Given the description of an element on the screen output the (x, y) to click on. 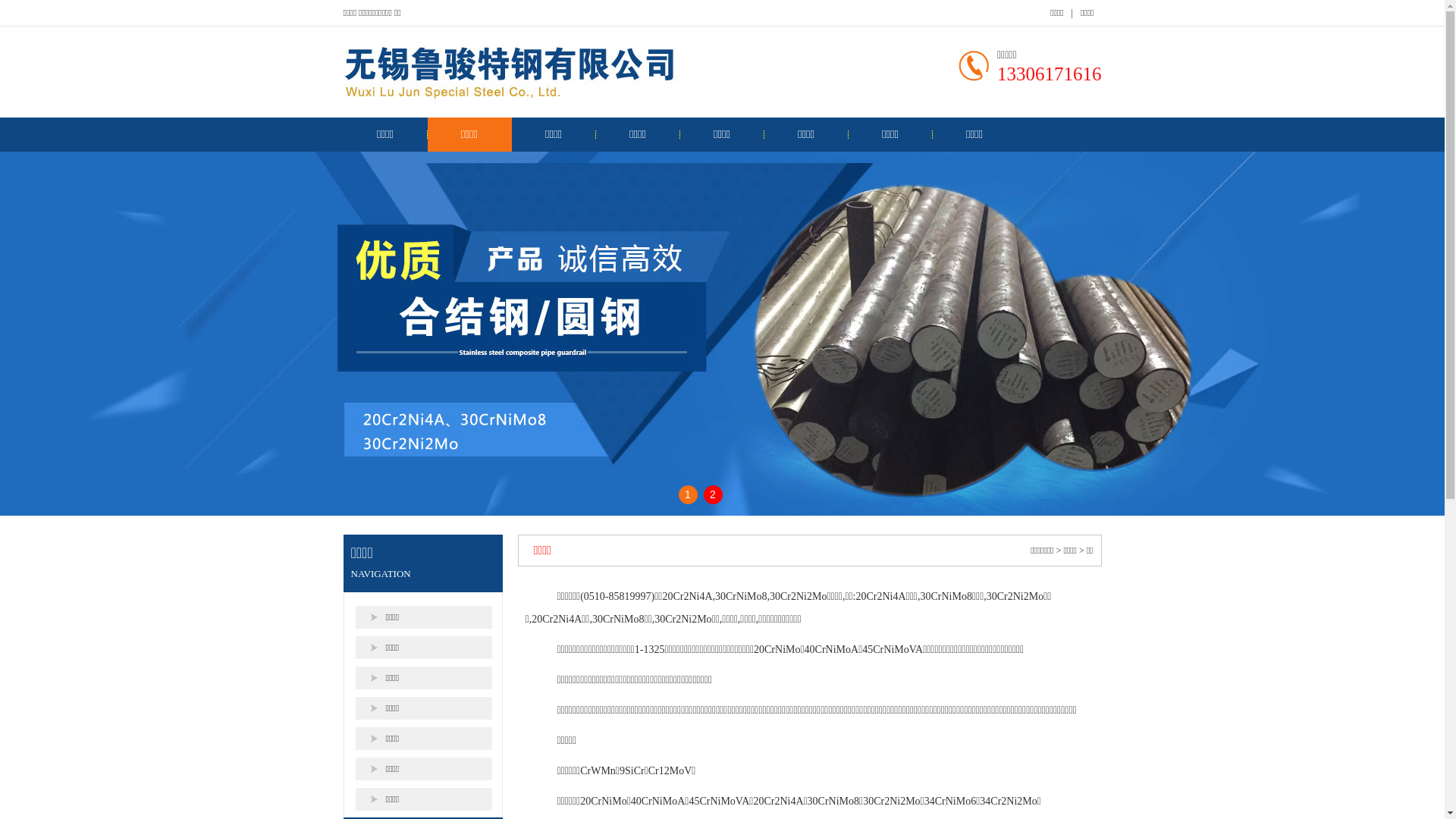
30CrNiMo8 Element type: text (740, 596)
2 Element type: text (712, 494)
1 Element type: text (686, 494)
30Cr2Ni2Mo Element type: text (797, 596)
